Given the description of an element on the screen output the (x, y) to click on. 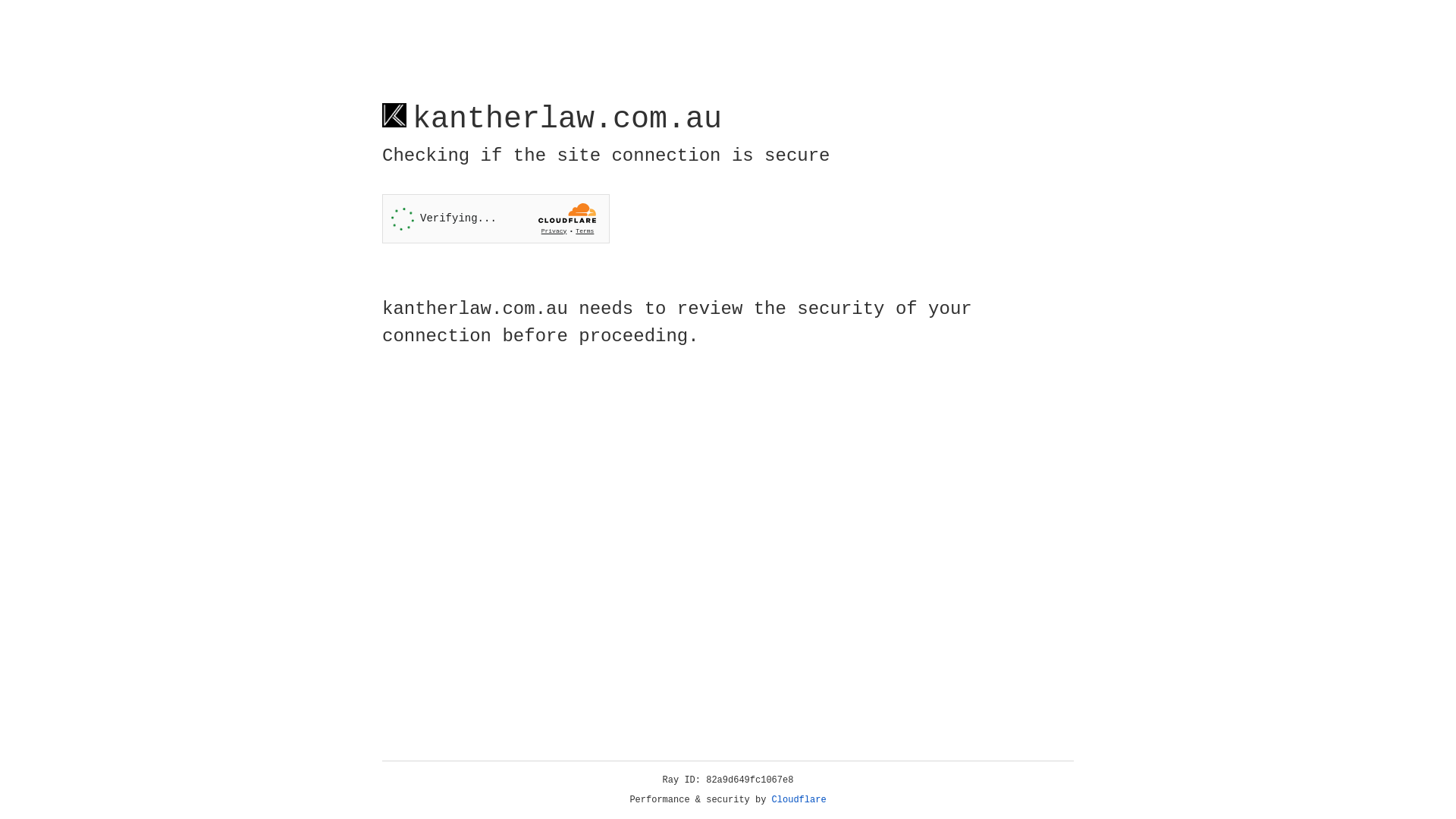
Widget containing a Cloudflare security challenge Element type: hover (495, 218)
Cloudflare Element type: text (798, 799)
